Given the description of an element on the screen output the (x, y) to click on. 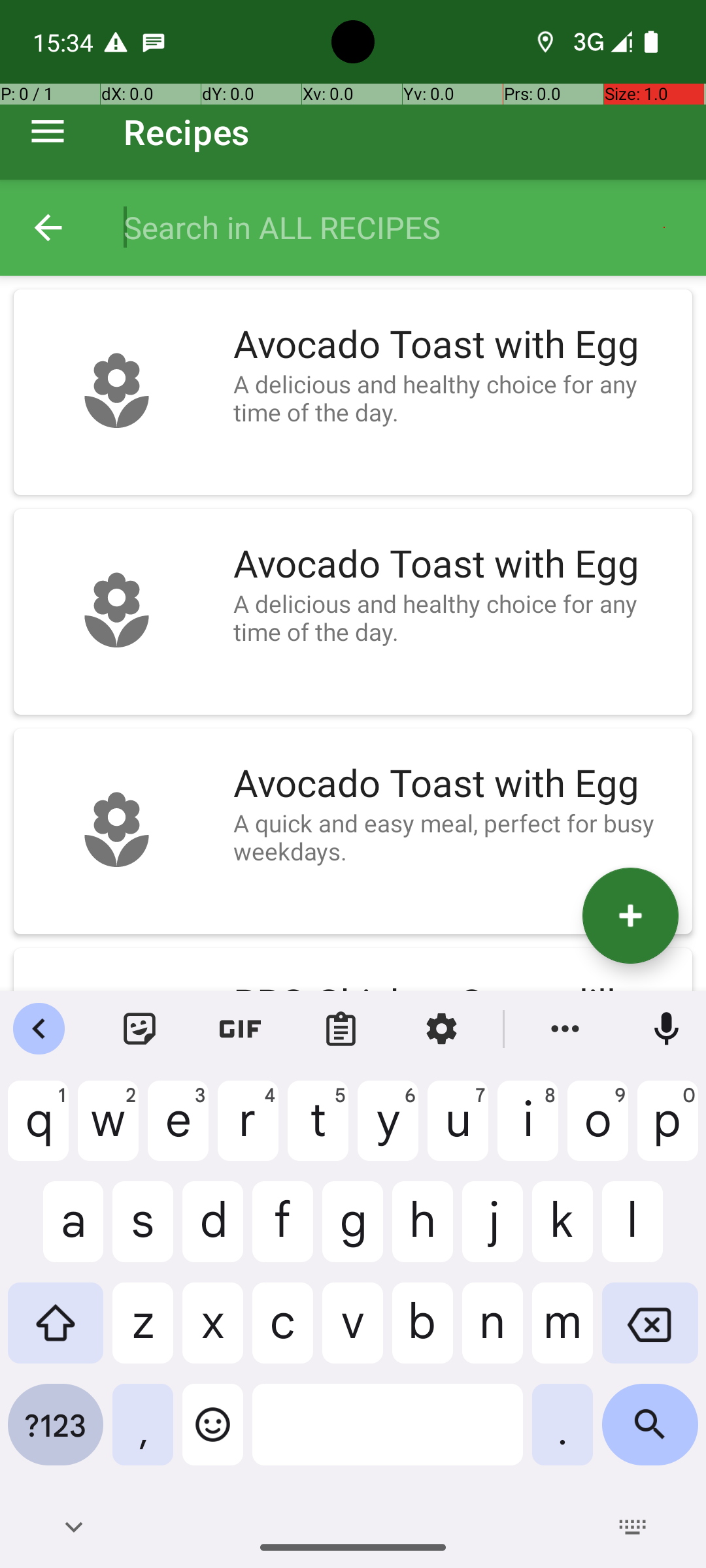
Collapse Element type: android.widget.ImageButton (48, 227)
Search in ALL RECIPES Element type: android.widget.AutoCompleteTextView (400, 227)
